Given the description of an element on the screen output the (x, y) to click on. 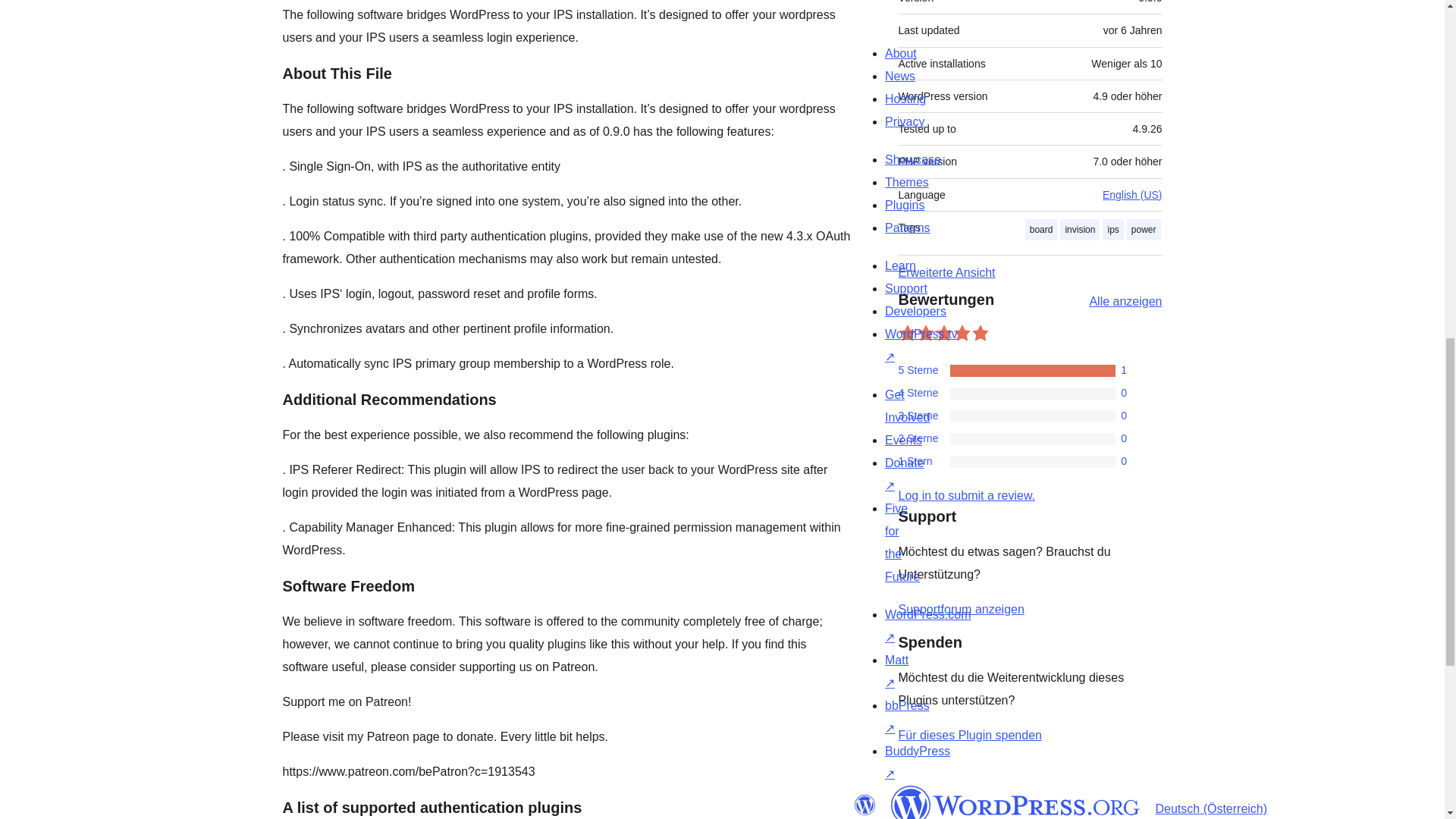
WordPress.org (864, 804)
Log in to WordPress.org (966, 495)
WordPress.org (1014, 802)
